Given the description of an element on the screen output the (x, y) to click on. 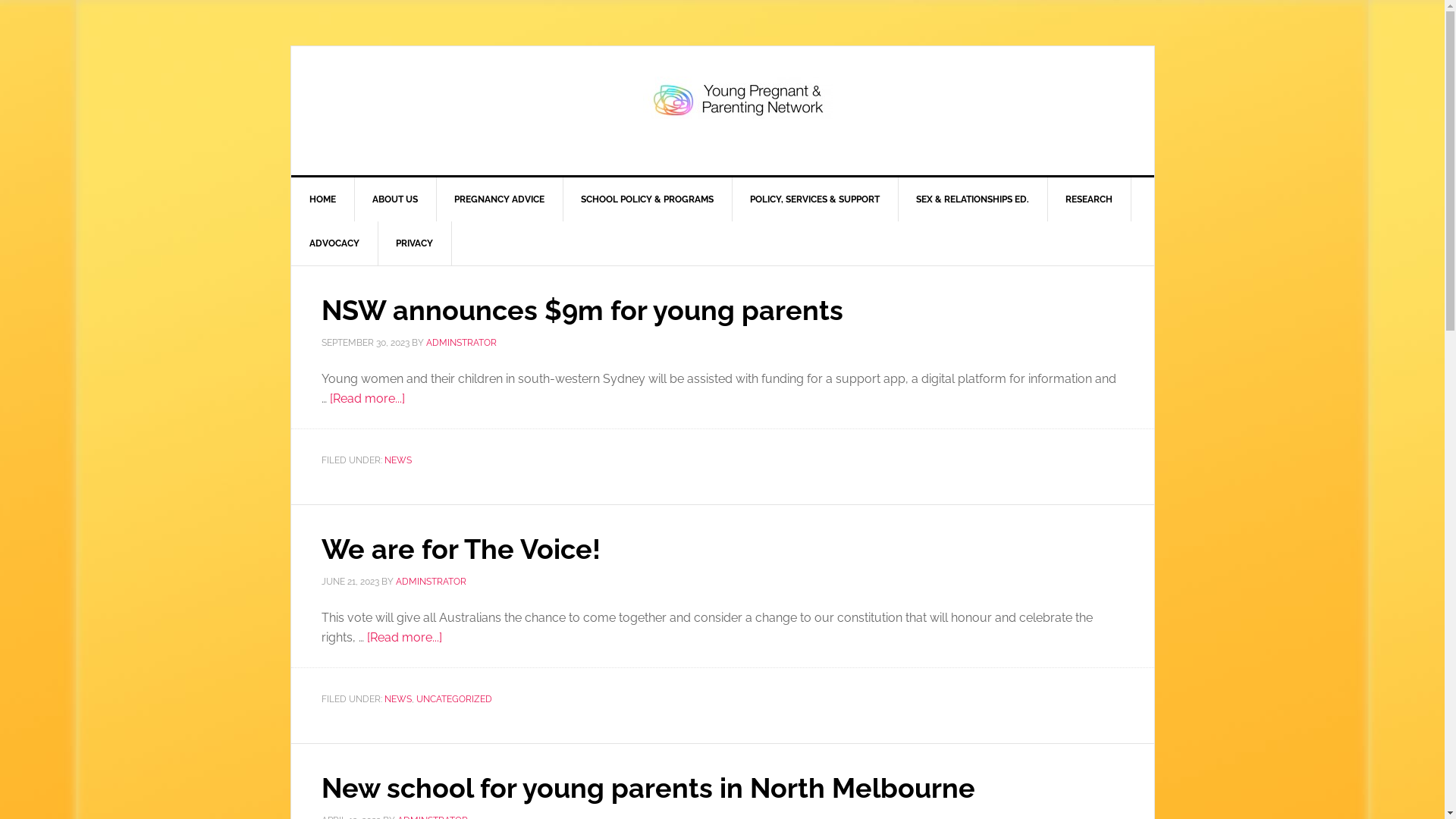
ABOUT US Element type: text (394, 199)
PREGNANCY ADVICE Element type: text (498, 199)
[Read more...] Element type: text (366, 398)
ADMINSTRATOR Element type: text (461, 342)
UNCATEGORIZED Element type: text (453, 698)
ADVOCACY Element type: text (334, 243)
NSW announces $9m for young parents Element type: text (582, 310)
New school for young parents in North Melbourne Element type: text (648, 787)
NEWS Element type: text (397, 460)
RESEARCH Element type: text (1088, 199)
We are for The Voice! Element type: text (460, 548)
SEX & RELATIONSHIPS ED. Element type: text (972, 199)
[Read more...] Element type: text (404, 636)
POLICY, SERVICES & SUPPORT Element type: text (814, 199)
PRIVACY Element type: text (414, 243)
HOME Element type: text (322, 199)
NEWS Element type: text (397, 698)
ADMINSTRATOR Element type: text (430, 581)
SCHOOL POLICY & PROGRAMS Element type: text (647, 199)
